Given the description of an element on the screen output the (x, y) to click on. 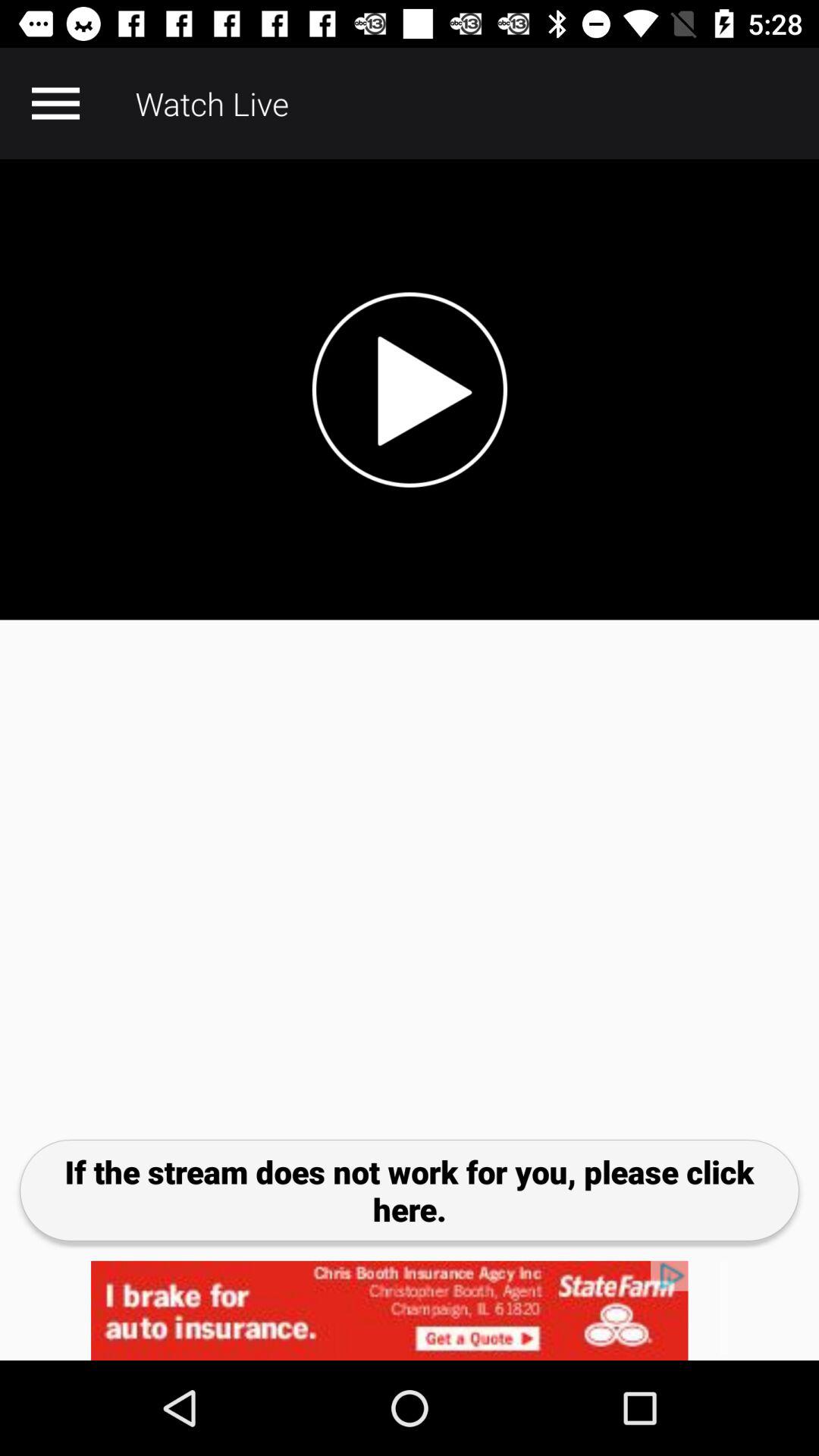
open advertisement (409, 1310)
